Given the description of an element on the screen output the (x, y) to click on. 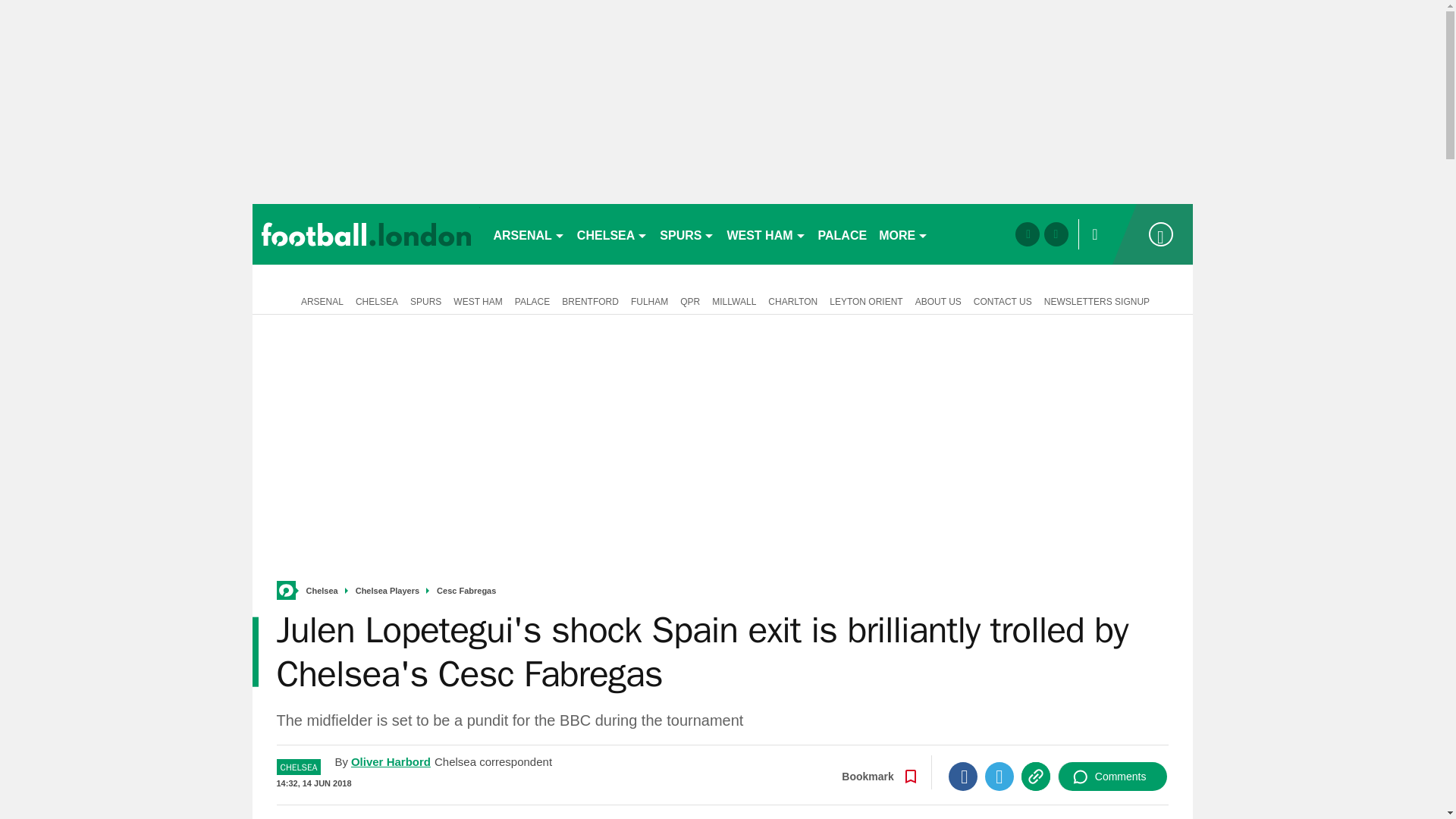
Twitter (999, 776)
WEST HAM (765, 233)
twitter (1055, 233)
facebook (1026, 233)
Comments (1112, 776)
MORE (903, 233)
PALACE (842, 233)
Facebook (962, 776)
SPURS (686, 233)
ARSENAL (528, 233)
